Given the description of an element on the screen output the (x, y) to click on. 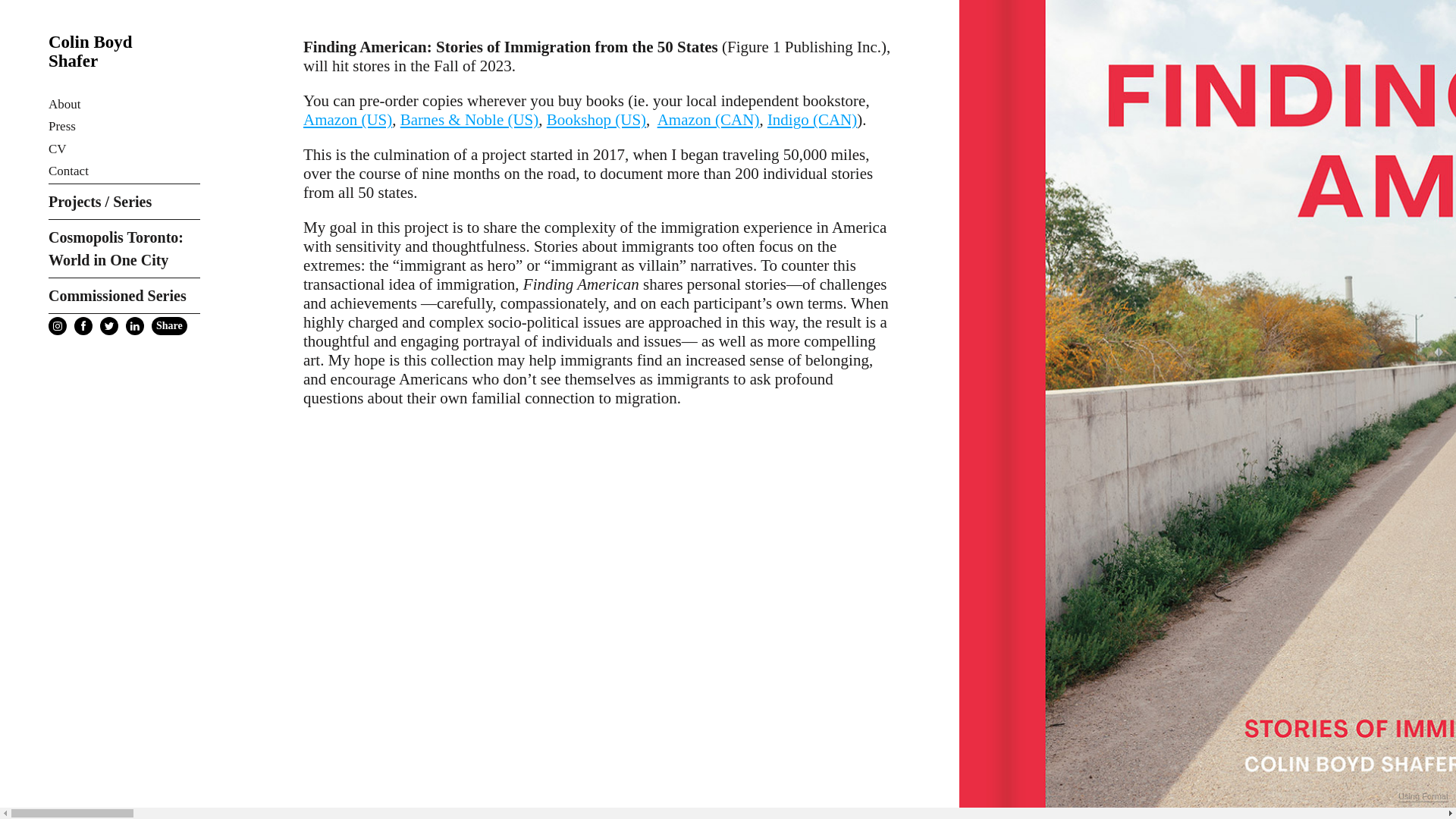
Share (169, 326)
Colin Boyd Shafer (116, 43)
About (64, 104)
Commissioned Series (124, 295)
Cosmopolis Toronto: World in One City (124, 248)
Share (169, 326)
Using Format (1422, 796)
Facebook (83, 325)
Twitter (108, 325)
CV (57, 148)
